Given the description of an element on the screen output the (x, y) to click on. 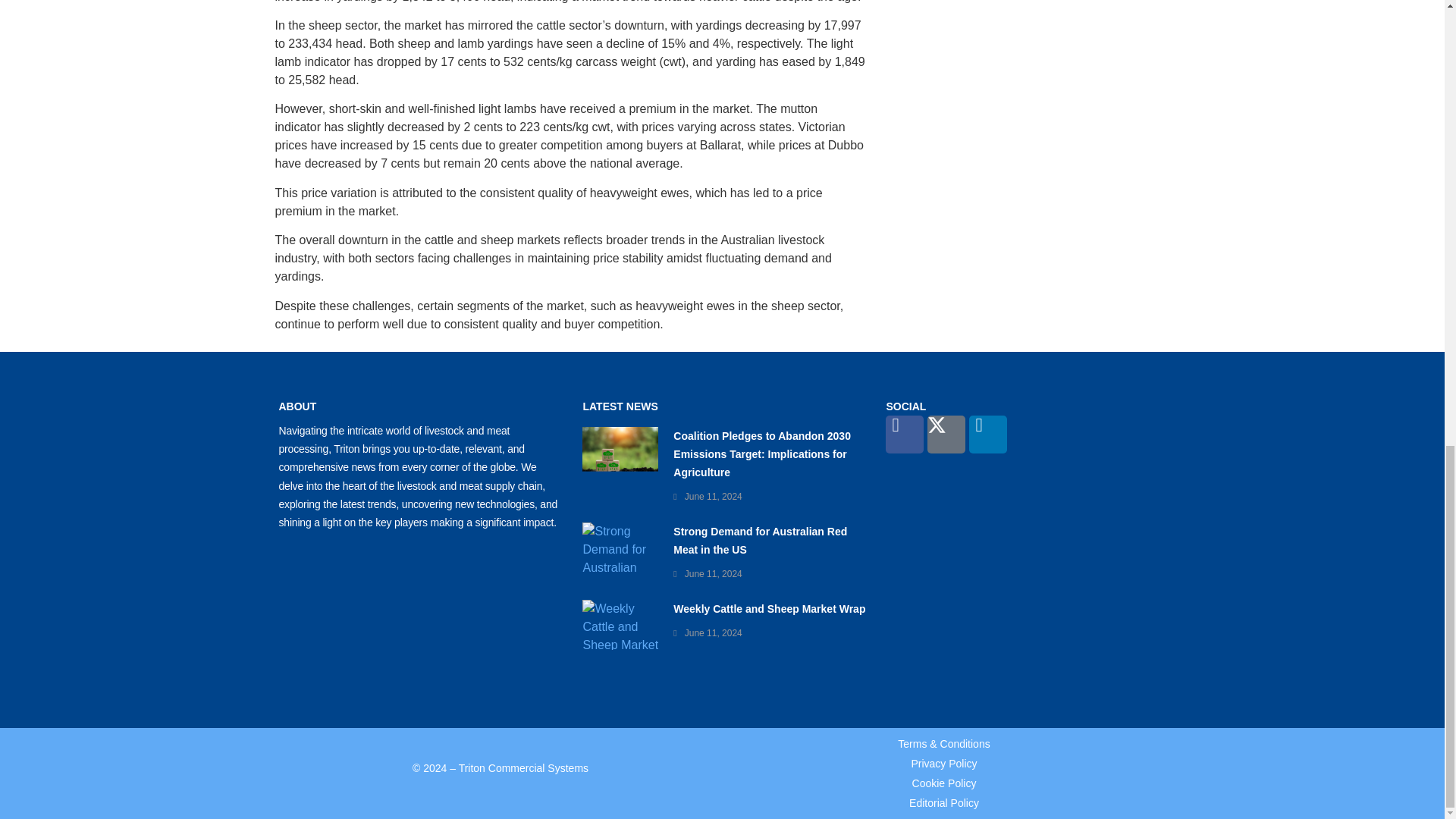
June 11, 2024 (713, 573)
Weekly Cattle and Sheep Market Wrap (768, 608)
June 11, 2024 (713, 633)
June 11, 2024 (713, 496)
Strong Demand for Australian Red Meat in the US (759, 540)
